Given the description of an element on the screen output the (x, y) to click on. 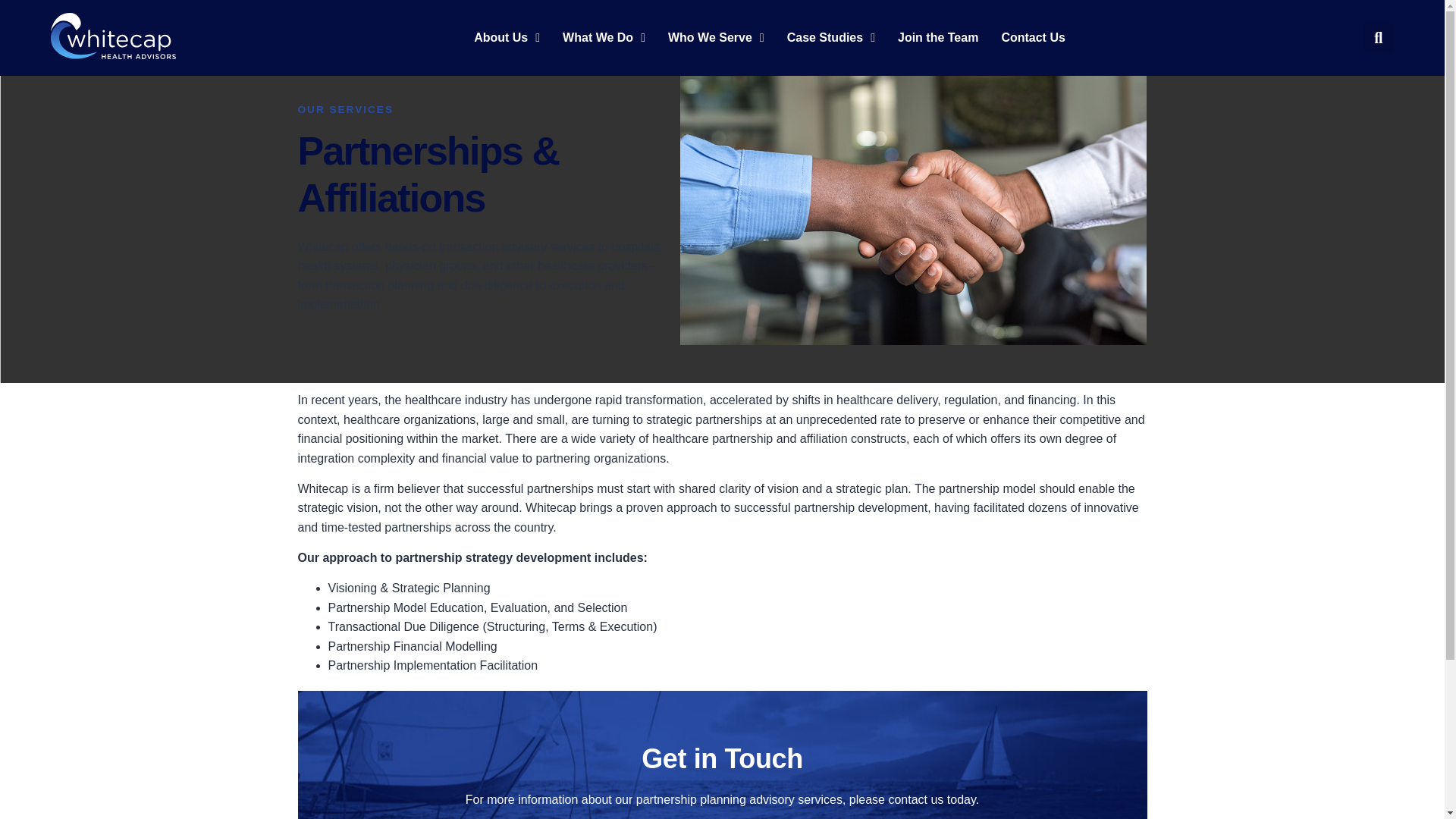
Who We Serve (716, 37)
Join the Team (938, 37)
Contact Us (1032, 37)
What We Do (603, 37)
About Us (507, 37)
Case Studies (831, 37)
